Given the description of an element on the screen output the (x, y) to click on. 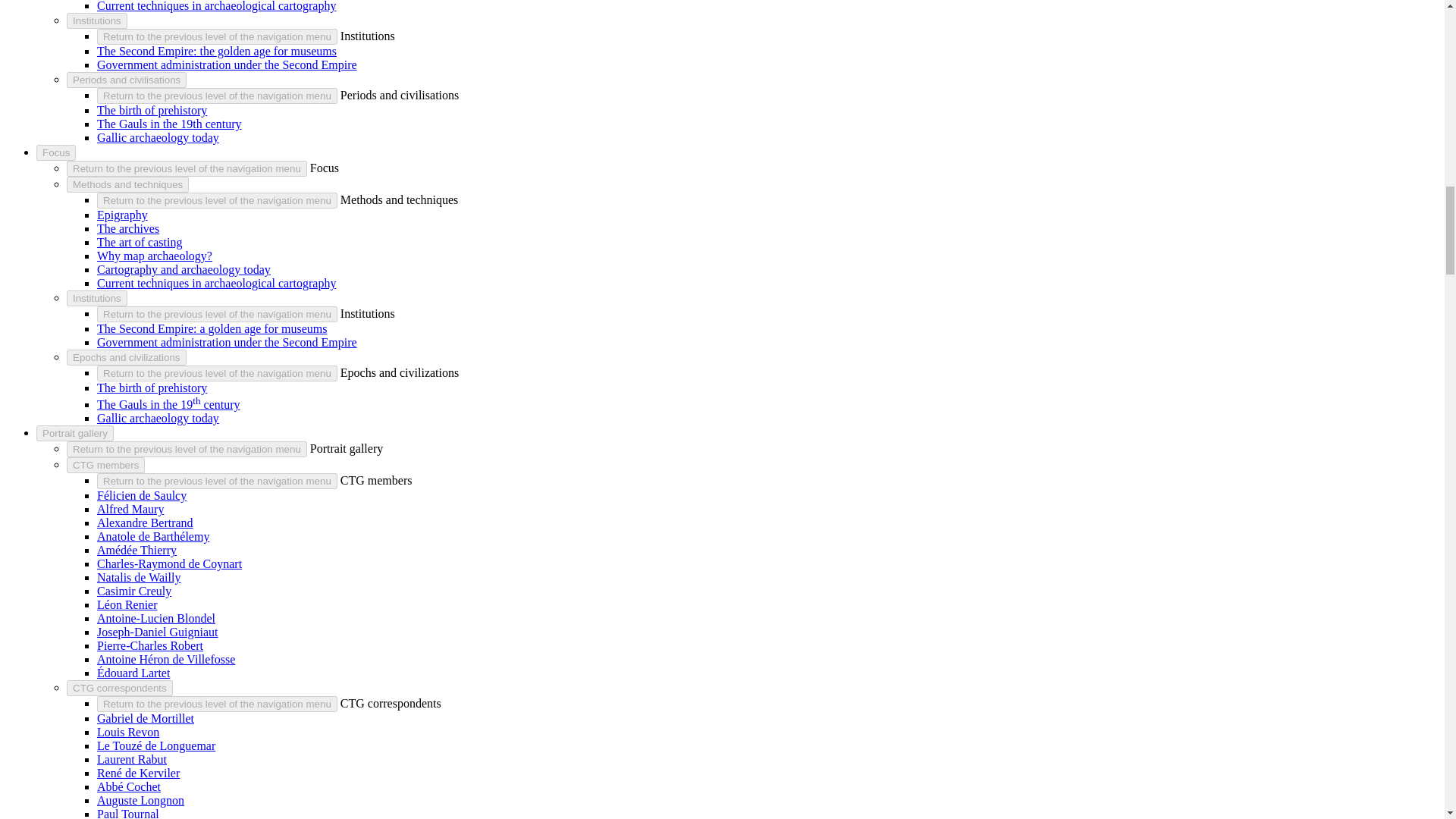
Return to the previous level of the navigation menu (217, 95)
Return to the previous level of the navigation menu (217, 36)
